Given the description of an element on the screen output the (x, y) to click on. 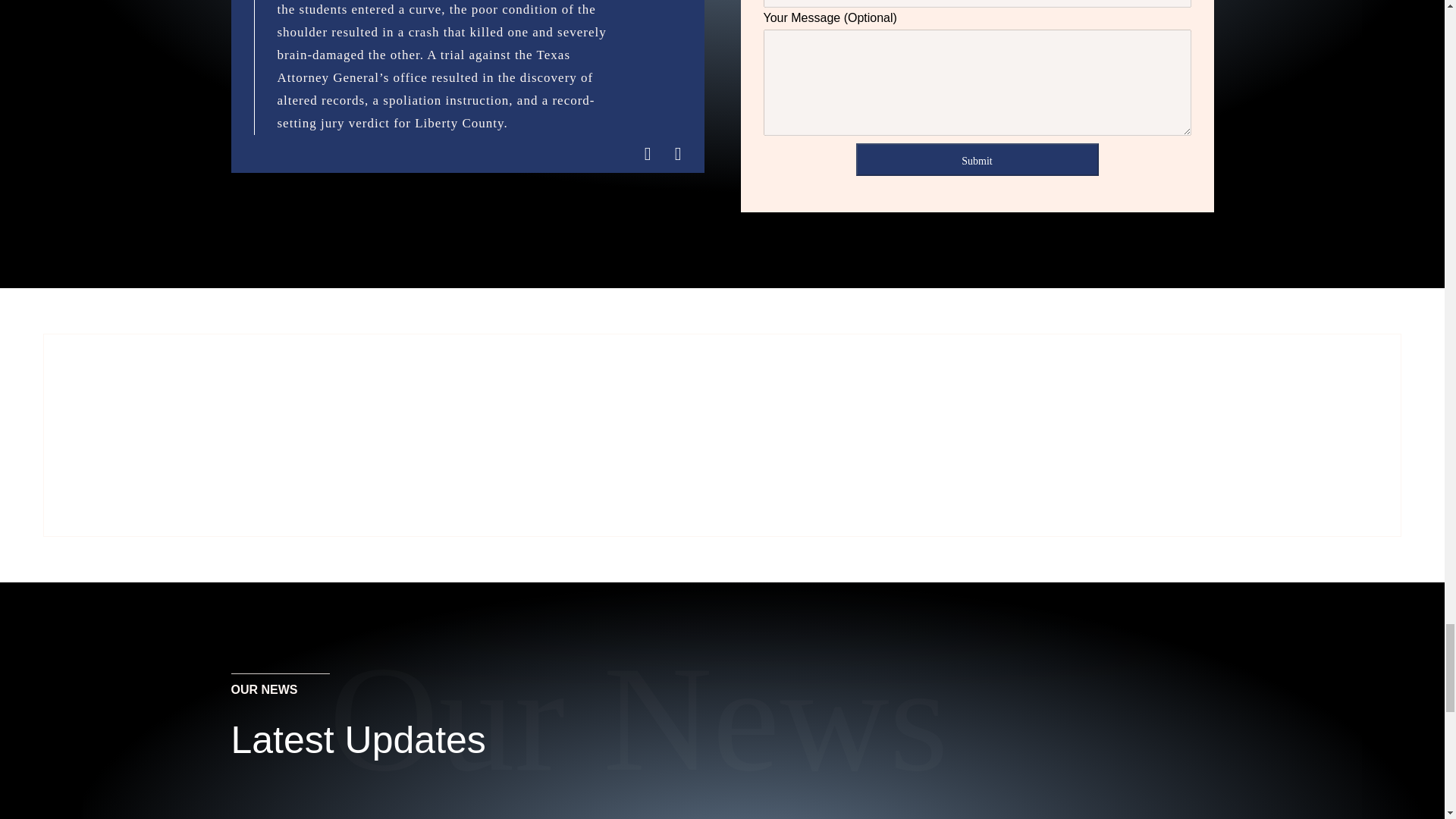
Submit (976, 159)
